Given the description of an element on the screen output the (x, y) to click on. 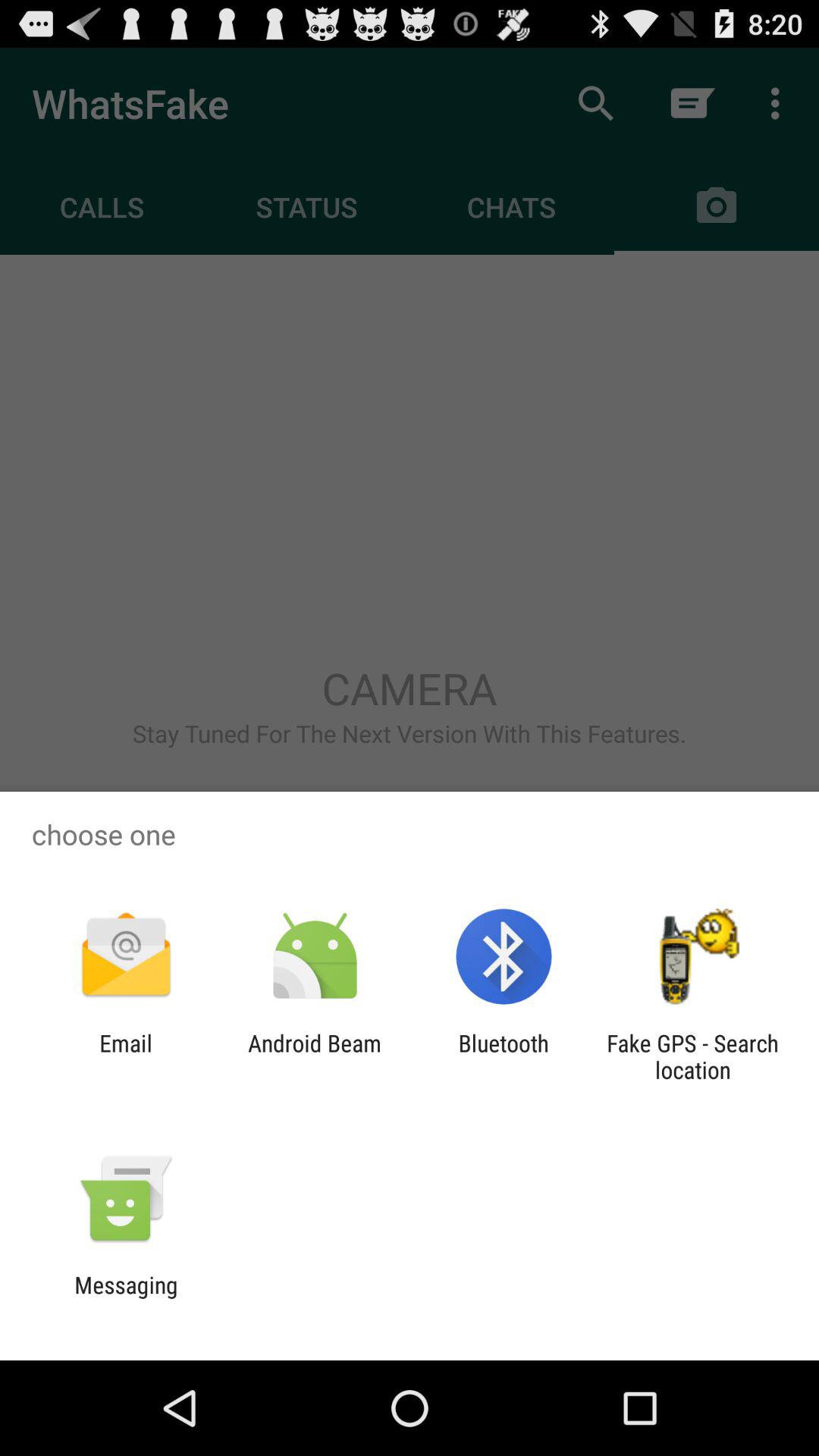
swipe until fake gps search (692, 1056)
